Given the description of an element on the screen output the (x, y) to click on. 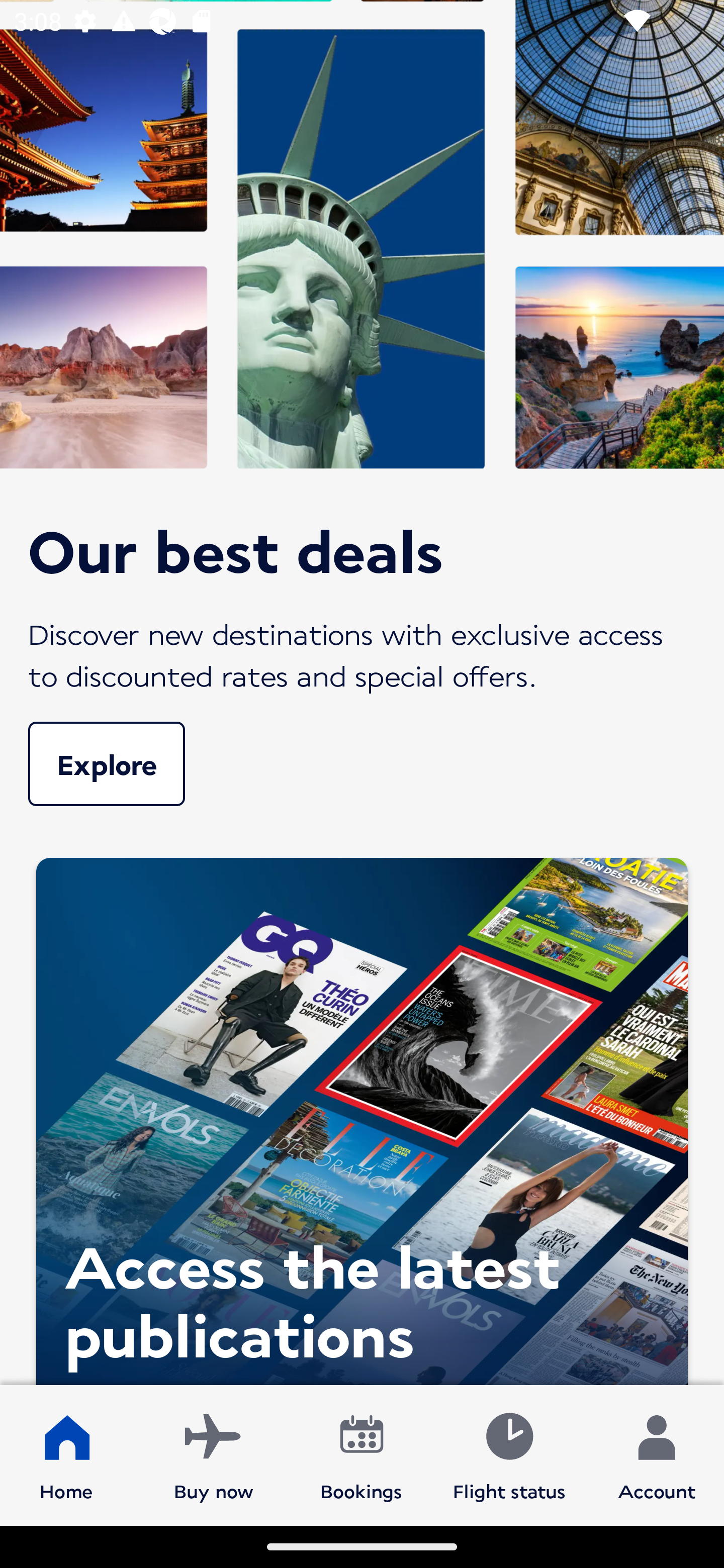
Access the latest publications (361, 1116)
Buy now (213, 1454)
Bookings (361, 1454)
Flight status (509, 1454)
Account (657, 1454)
